Given the description of an element on the screen output the (x, y) to click on. 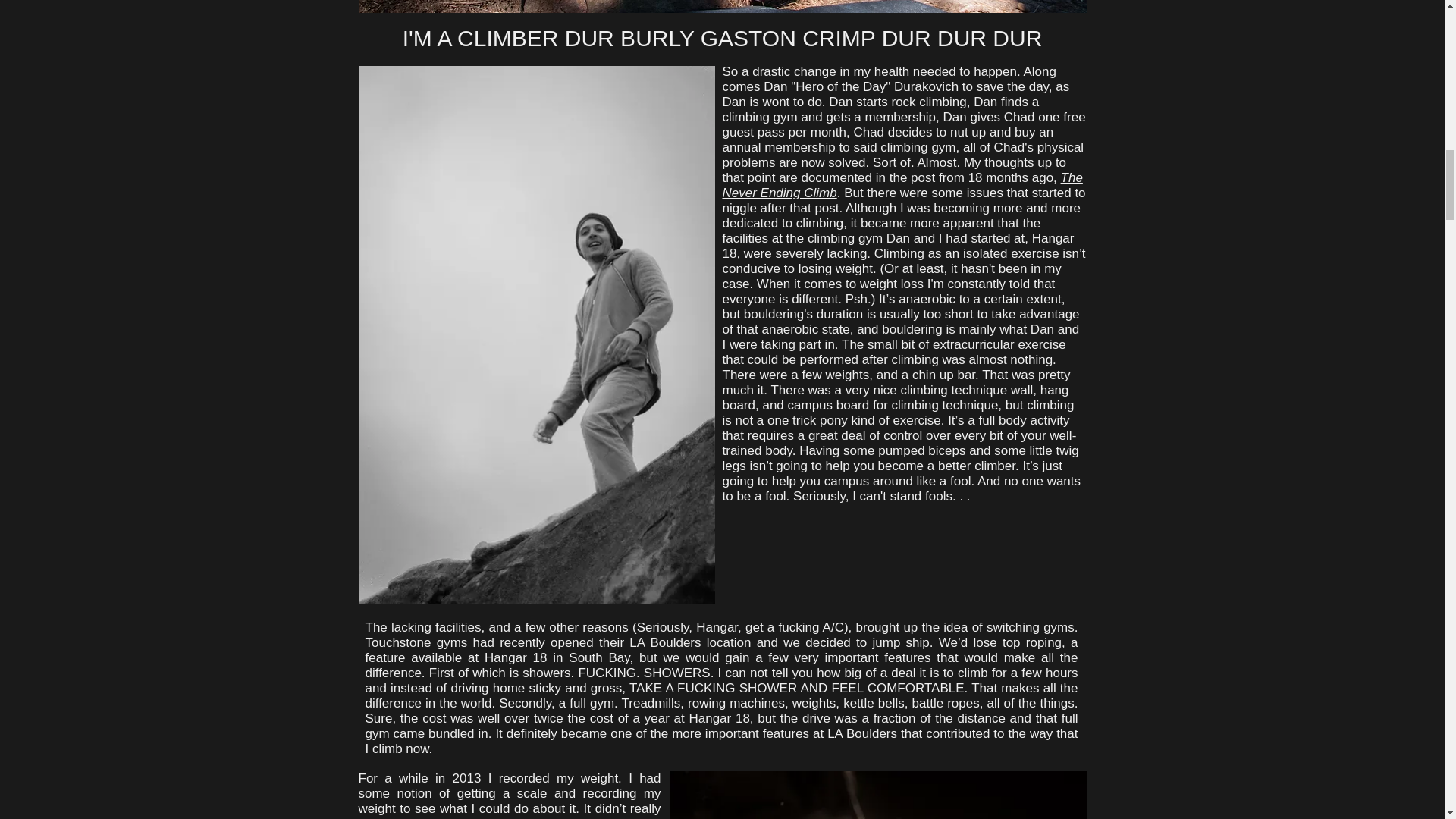
The Never Ending Climb (901, 184)
I'M A CLIMBER BURLY GASTON CRIMP DUR DUR DUR.jpg (722, 6)
